Given the description of an element on the screen output the (x, y) to click on. 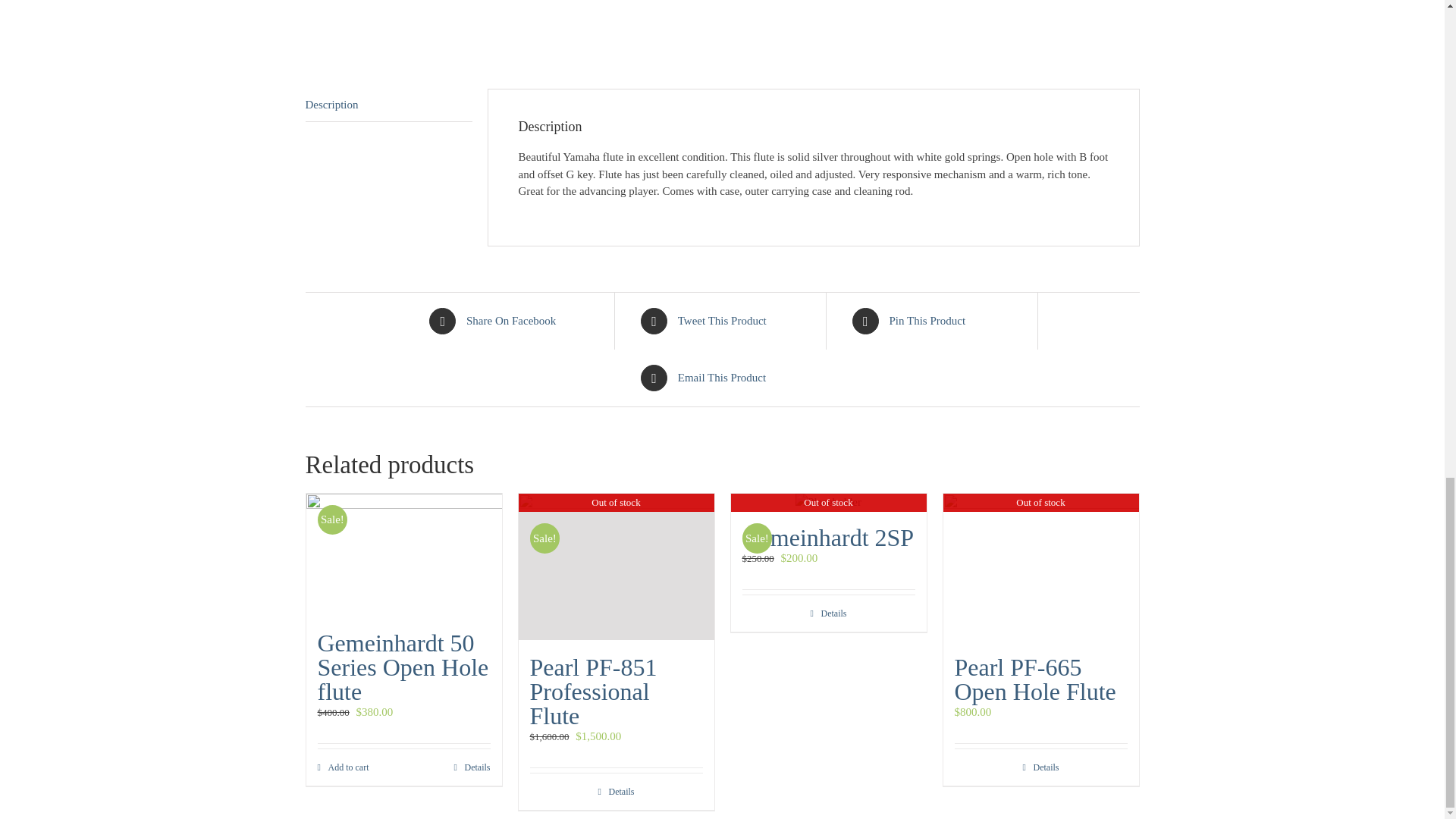
Pearl PF-851 Professional Flute (592, 691)
Gemeinhardt 2SP (827, 537)
Out of stock (1040, 566)
Pin This Product (616, 566)
Tweet This Product (932, 320)
Pearl PF-665 Open Hole Flute (721, 320)
Sale! (1034, 679)
Details (403, 554)
Description (828, 501)
Share On Facebook (1039, 766)
Add to cart (387, 105)
Details (510, 320)
Gemeinhardt 50 Series Open Hole flute (342, 766)
